Given the description of an element on the screen output the (x, y) to click on. 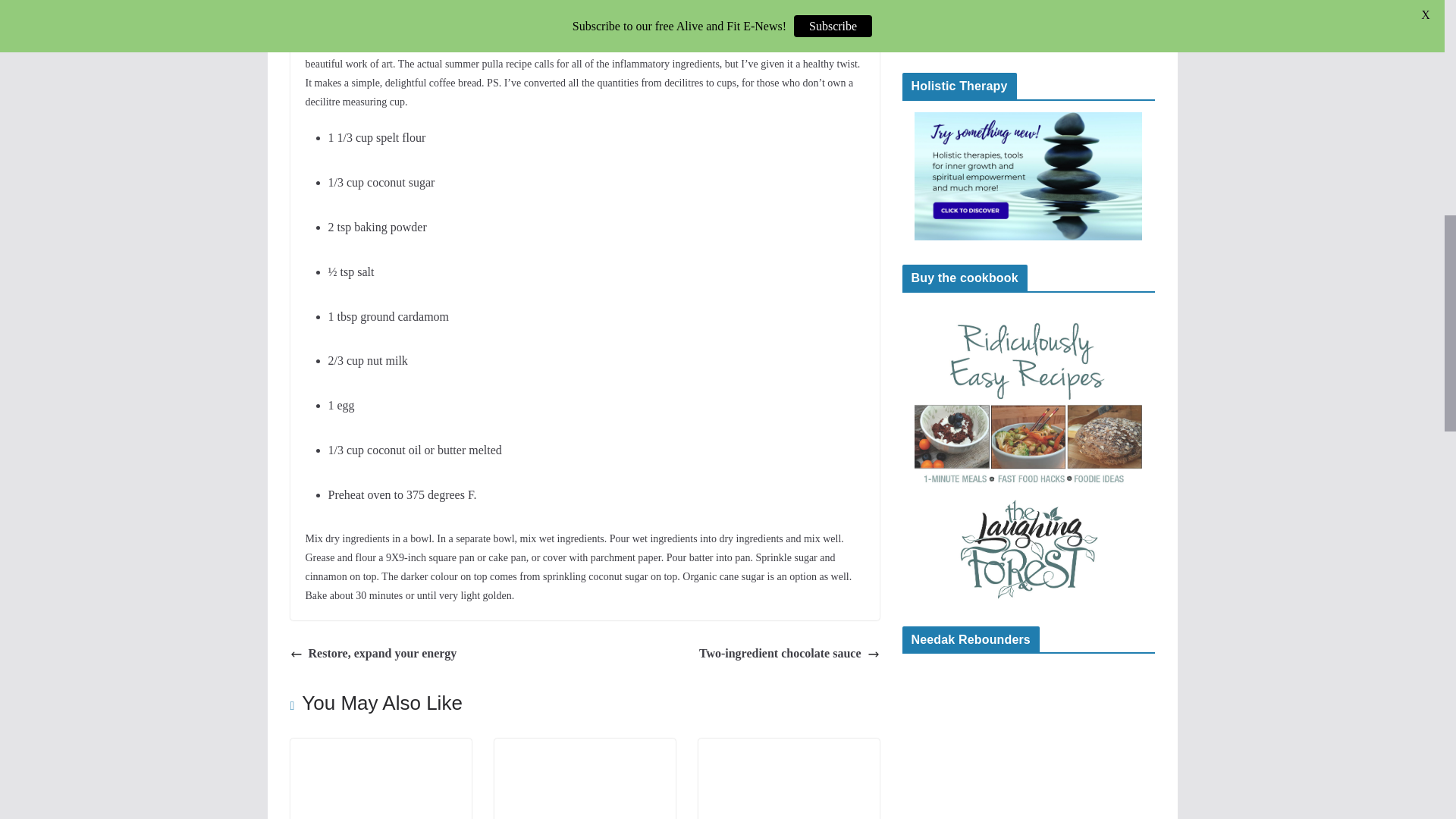
Two-ingredient chocolate sauce (788, 653)
Restore, expand your energy (373, 653)
Happy Healthy Birthday Cake (379, 748)
Raw Chocolate Energy Balls (585, 748)
